Given the description of an element on the screen output the (x, y) to click on. 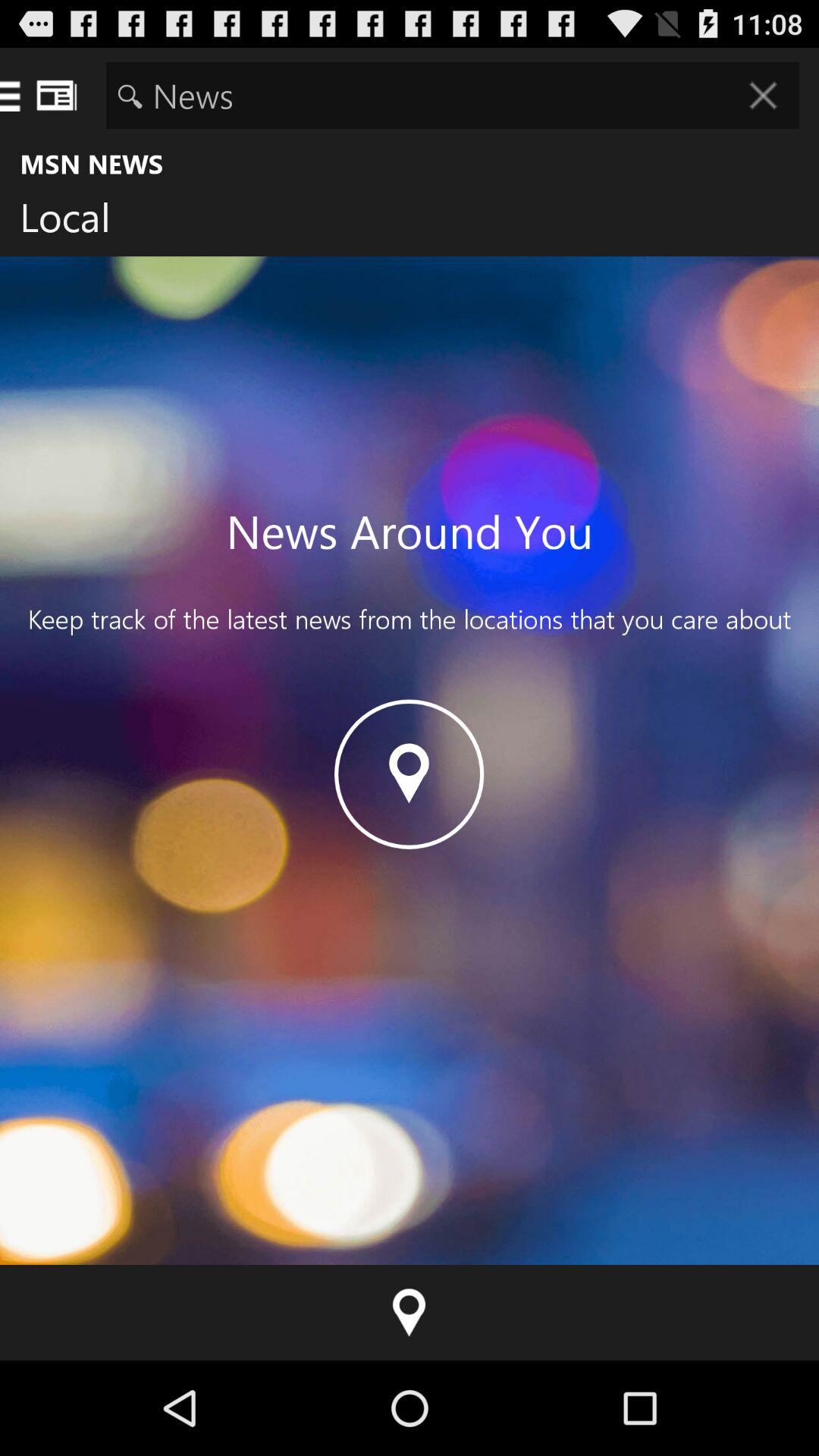
enter search text (452, 95)
